Given the description of an element on the screen output the (x, y) to click on. 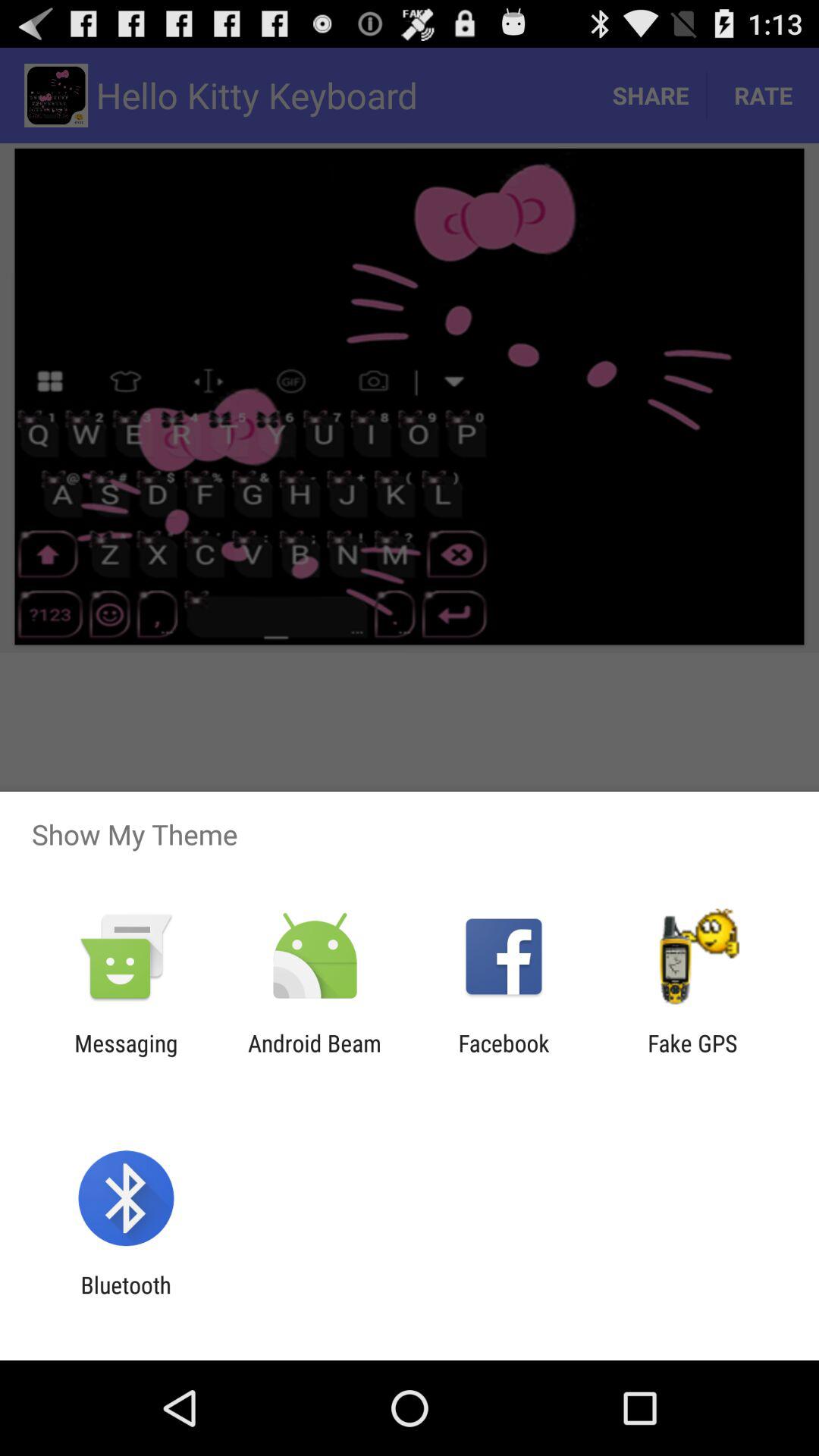
turn on the messaging (126, 1056)
